Given the description of an element on the screen output the (x, y) to click on. 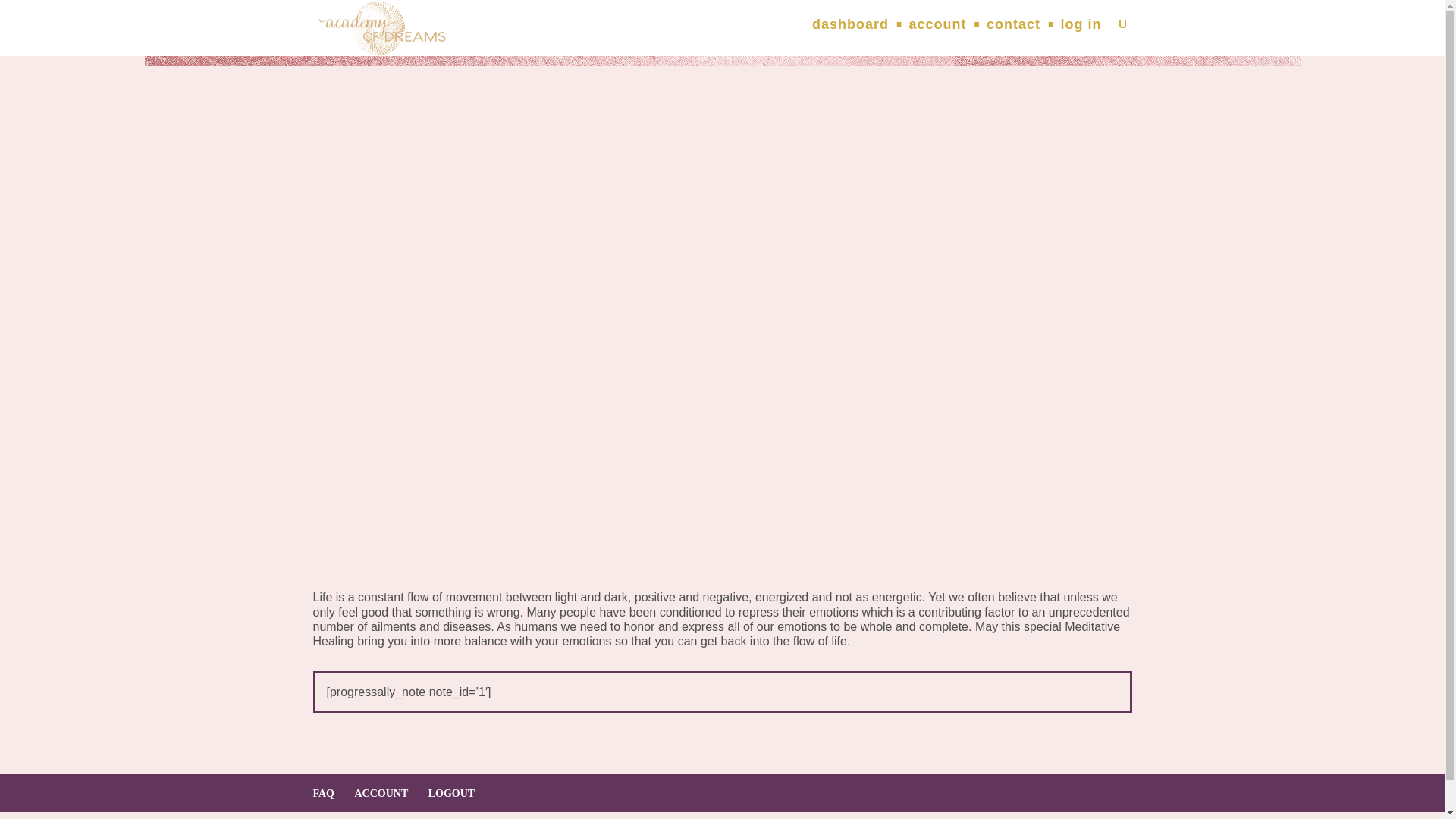
log in (1079, 25)
dashboard (850, 25)
contact (1014, 25)
account (937, 25)
